Given the description of an element on the screen output the (x, y) to click on. 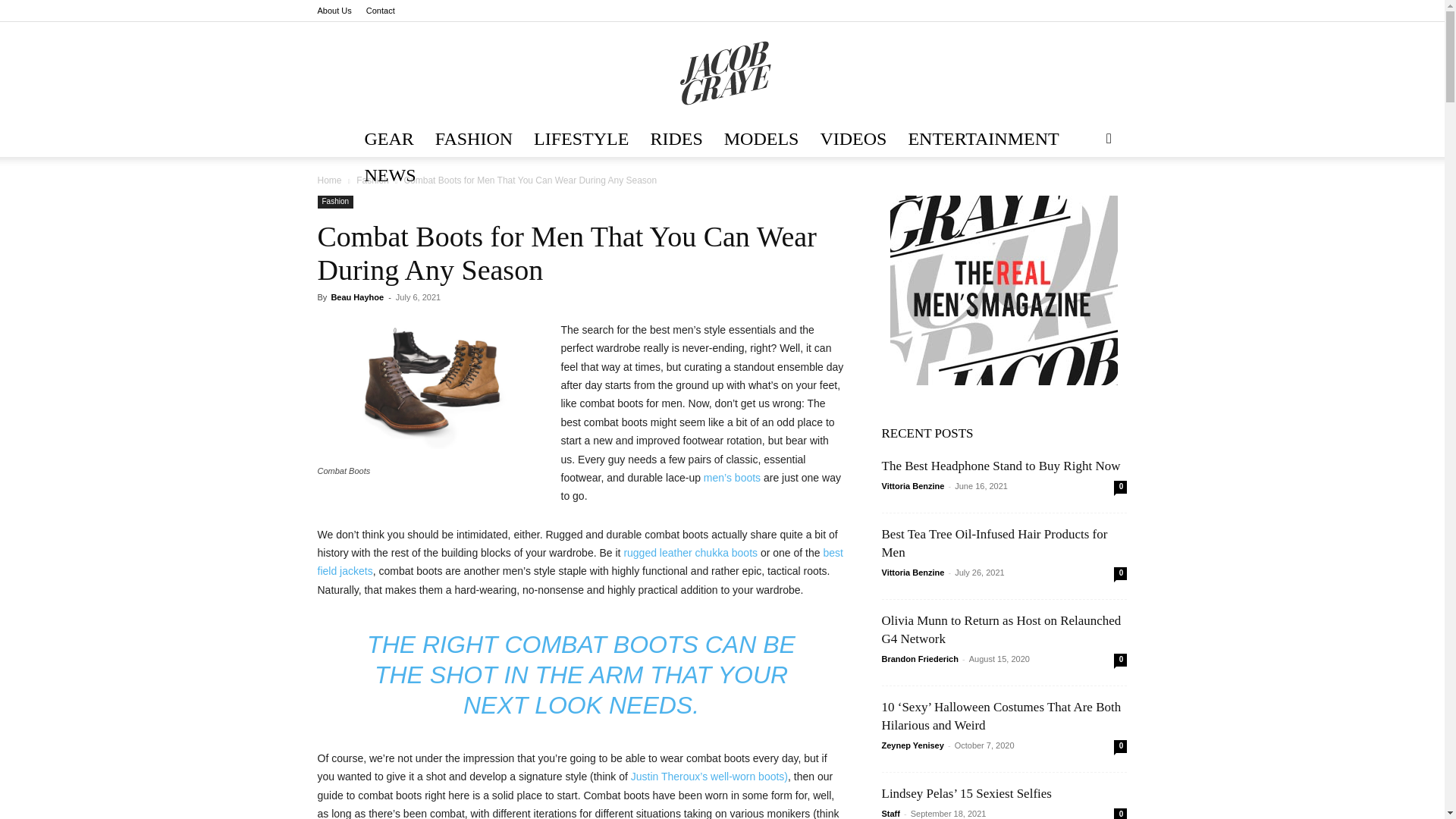
Contact (380, 10)
View all posts in Fashion (372, 180)
VIDEOS (852, 138)
Search (1085, 199)
MODELS (761, 138)
Instagram (1040, 10)
Fashion (372, 180)
Home (328, 180)
LIFESTYLE (580, 138)
FASHION (473, 138)
NEWS (389, 175)
Twitter (1065, 10)
ENTERTAINMENT (982, 138)
Fashion (335, 201)
RIDES (676, 138)
